Given the description of an element on the screen output the (x, y) to click on. 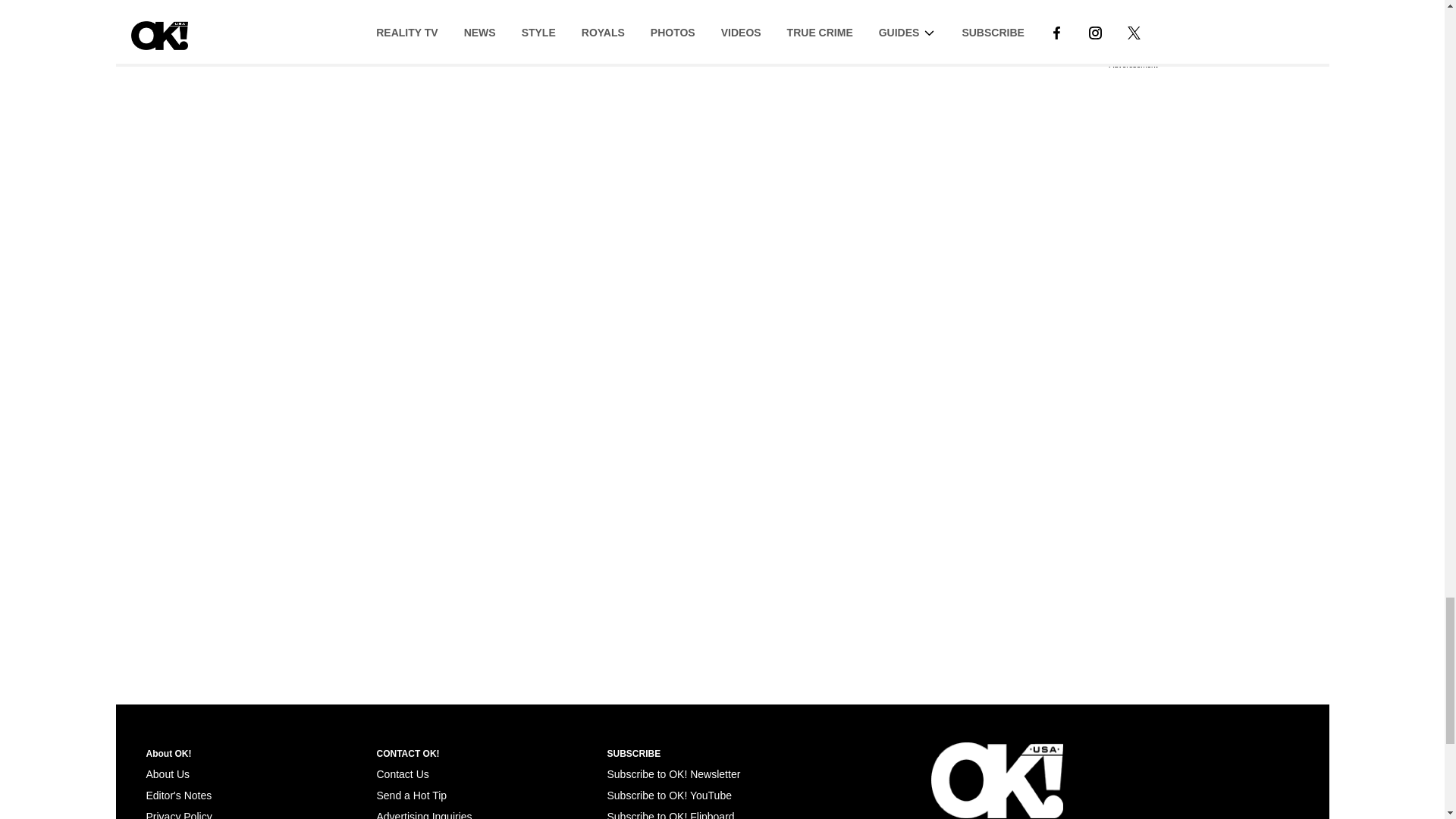
Editor's Notes (178, 795)
Contact Us (401, 774)
Send a Hot Tip (410, 795)
Privacy Policy (178, 814)
About Us (167, 774)
